Given the description of an element on the screen output the (x, y) to click on. 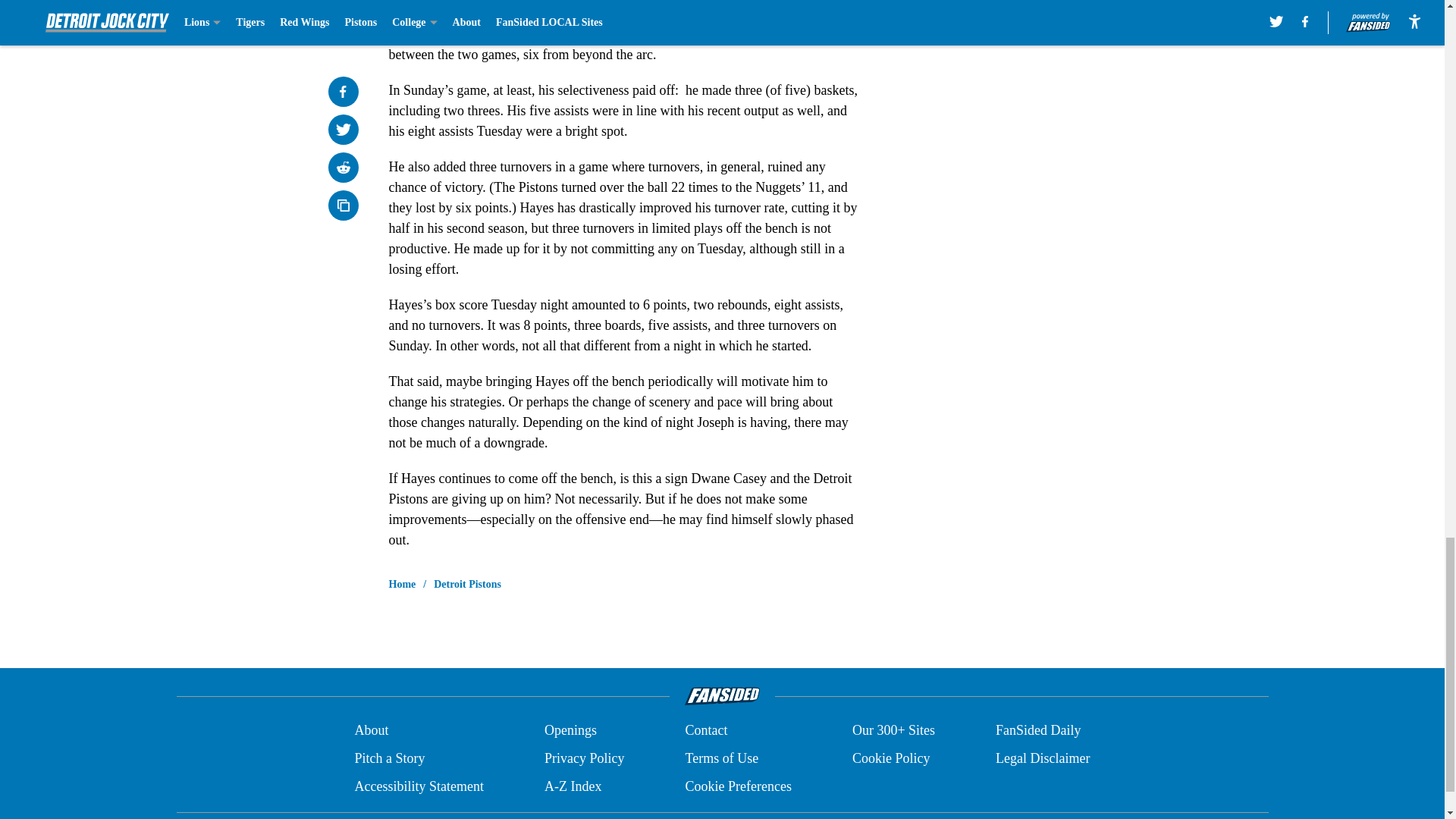
Openings (570, 730)
About (370, 730)
Legal Disclaimer (1042, 758)
Privacy Policy (584, 758)
Terms of Use (721, 758)
Pitch a Story (389, 758)
FanSided Daily (1038, 730)
Detroit Pistons (466, 584)
Home (401, 584)
Contact (705, 730)
